Given the description of an element on the screen output the (x, y) to click on. 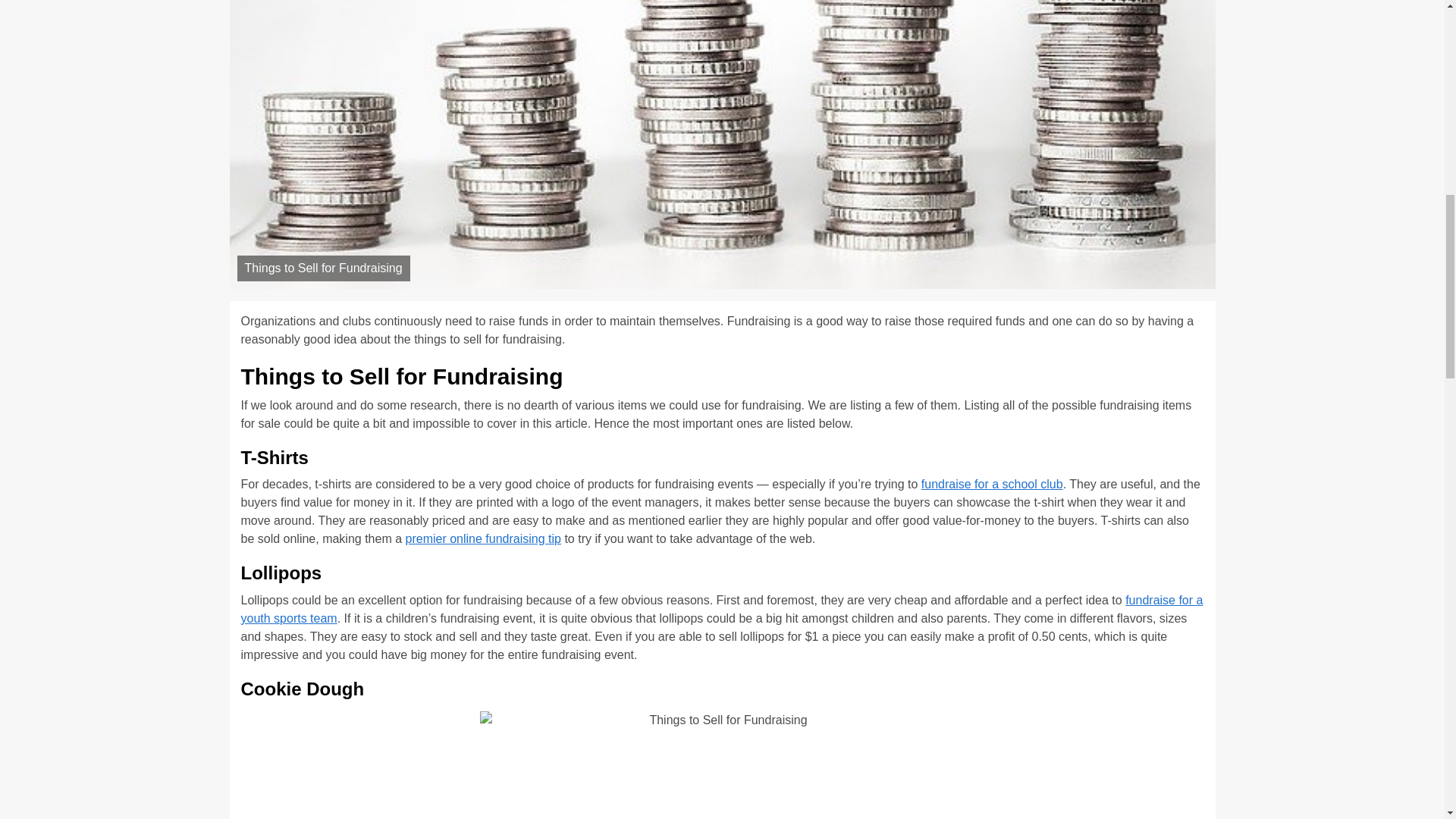
Things to Sell for Fundraising (721, 765)
fundraise for a school club (991, 483)
premier online fundraising tip (483, 538)
fundraise for a youth sports team (722, 608)
